Given the description of an element on the screen output the (x, y) to click on. 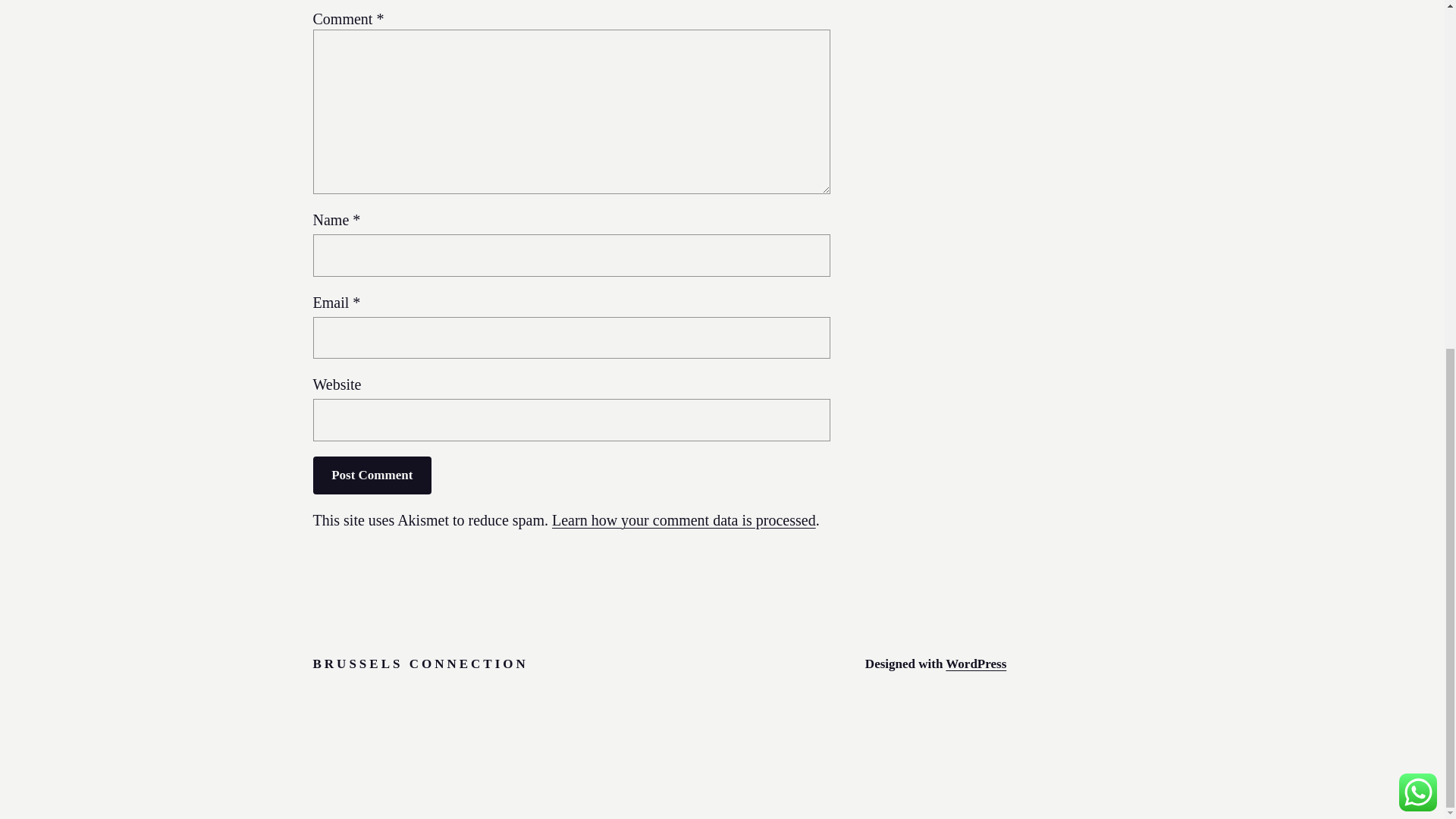
Learn how your comment data is processed (683, 519)
Post Comment (371, 475)
Post Comment (371, 475)
WordPress (975, 663)
BRUSSELS CONNECTION (420, 663)
